Given the description of an element on the screen output the (x, y) to click on. 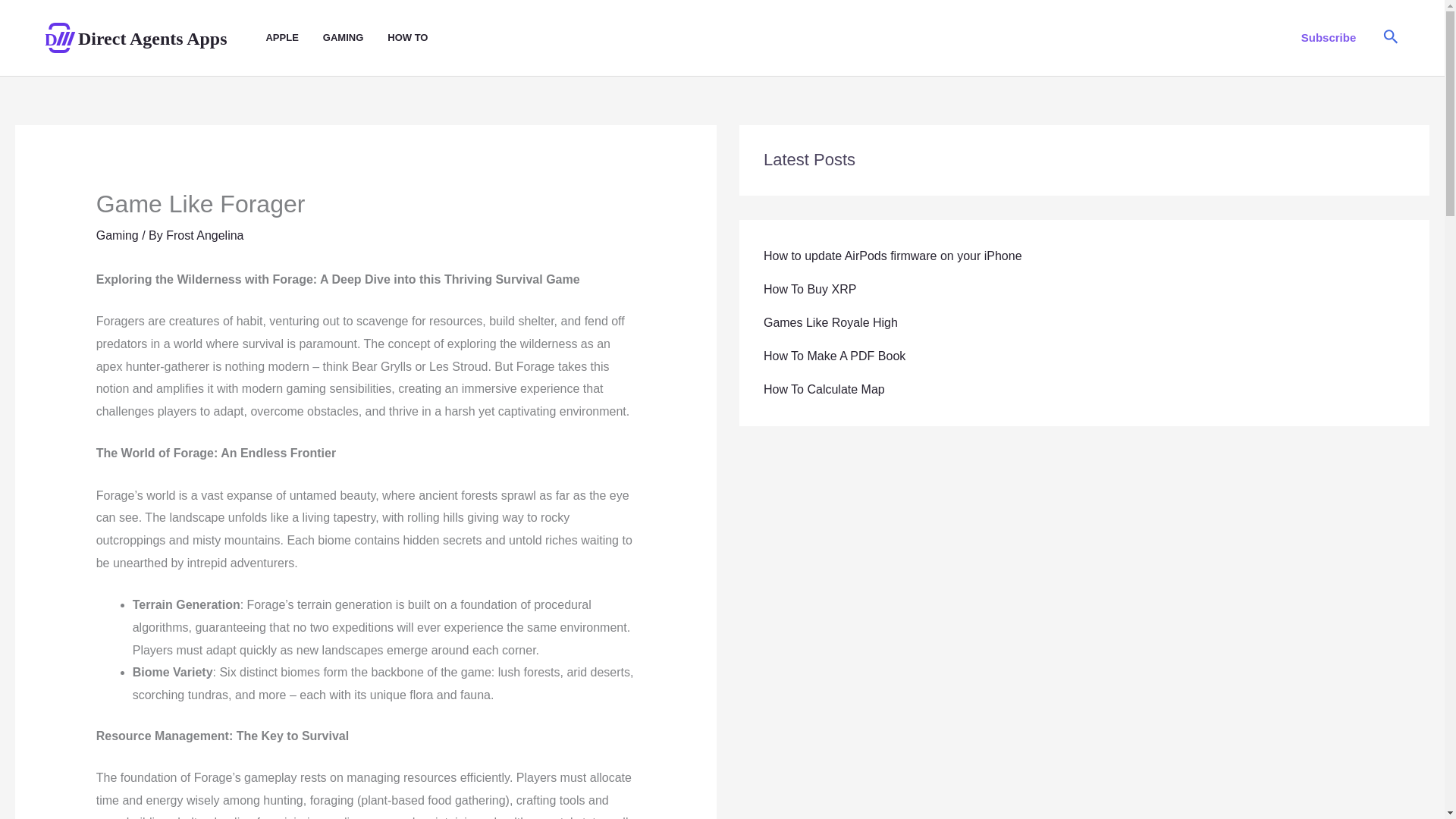
Subscribe (1328, 37)
How To Buy XRP (809, 288)
How to update AirPods firmware on your iPhone (892, 255)
How To Make A PDF Book (833, 355)
How To Calculate Map (823, 389)
Gaming (117, 235)
View all posts by Frost Angelina (204, 235)
Games Like Royale High (830, 322)
Frost Angelina (204, 235)
